Given the description of an element on the screen output the (x, y) to click on. 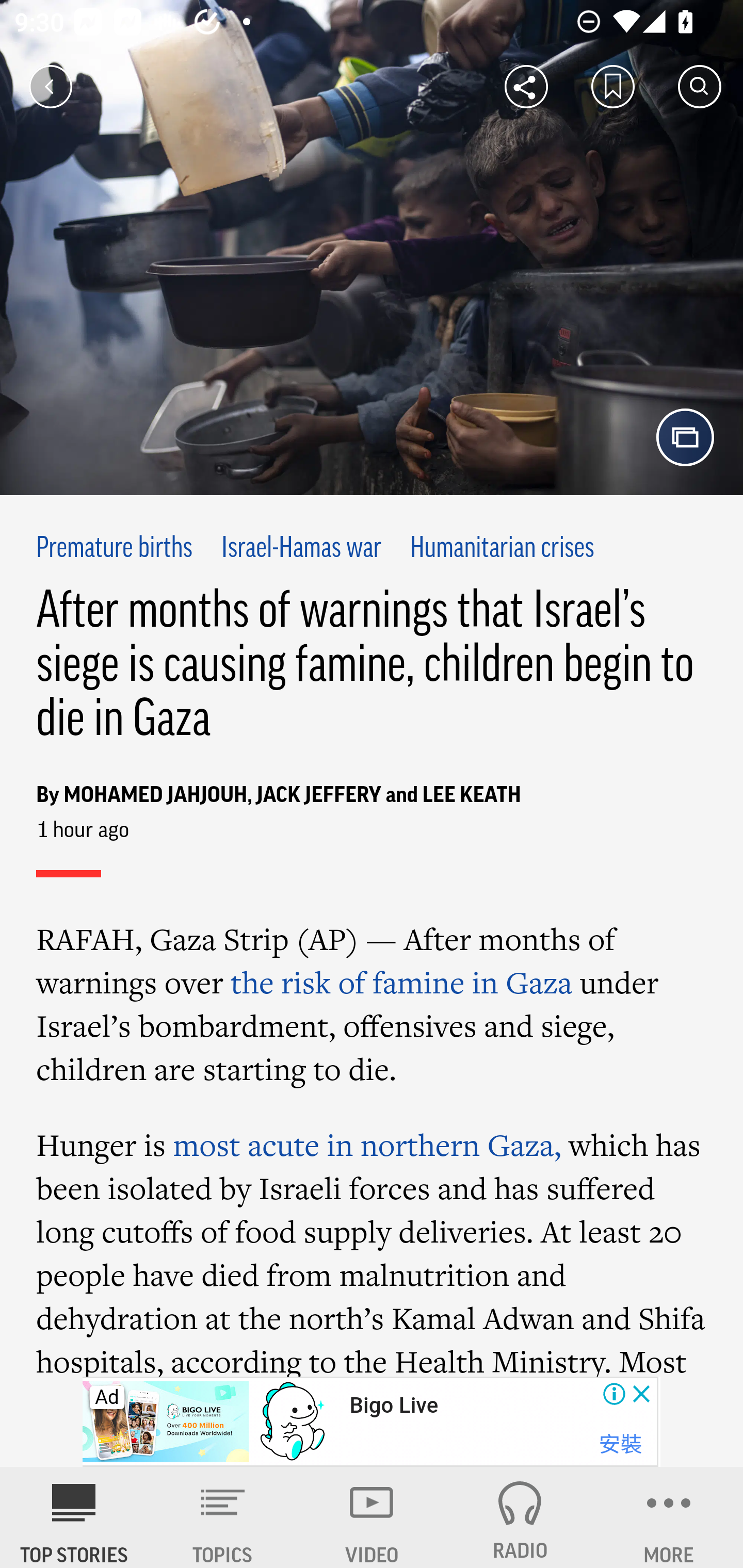
Premature births (114, 549)
Israel-Hamas war (301, 549)
Humanitarian crises (501, 549)
the risk of famine in Gaza (401, 982)
most acute in northern Gaza, (366, 1144)
Bigo Live (393, 1405)
安裝 (620, 1444)
AP News TOP STORIES (74, 1517)
TOPICS (222, 1517)
VIDEO (371, 1517)
RADIO (519, 1517)
MORE (668, 1517)
